Given the description of an element on the screen output the (x, y) to click on. 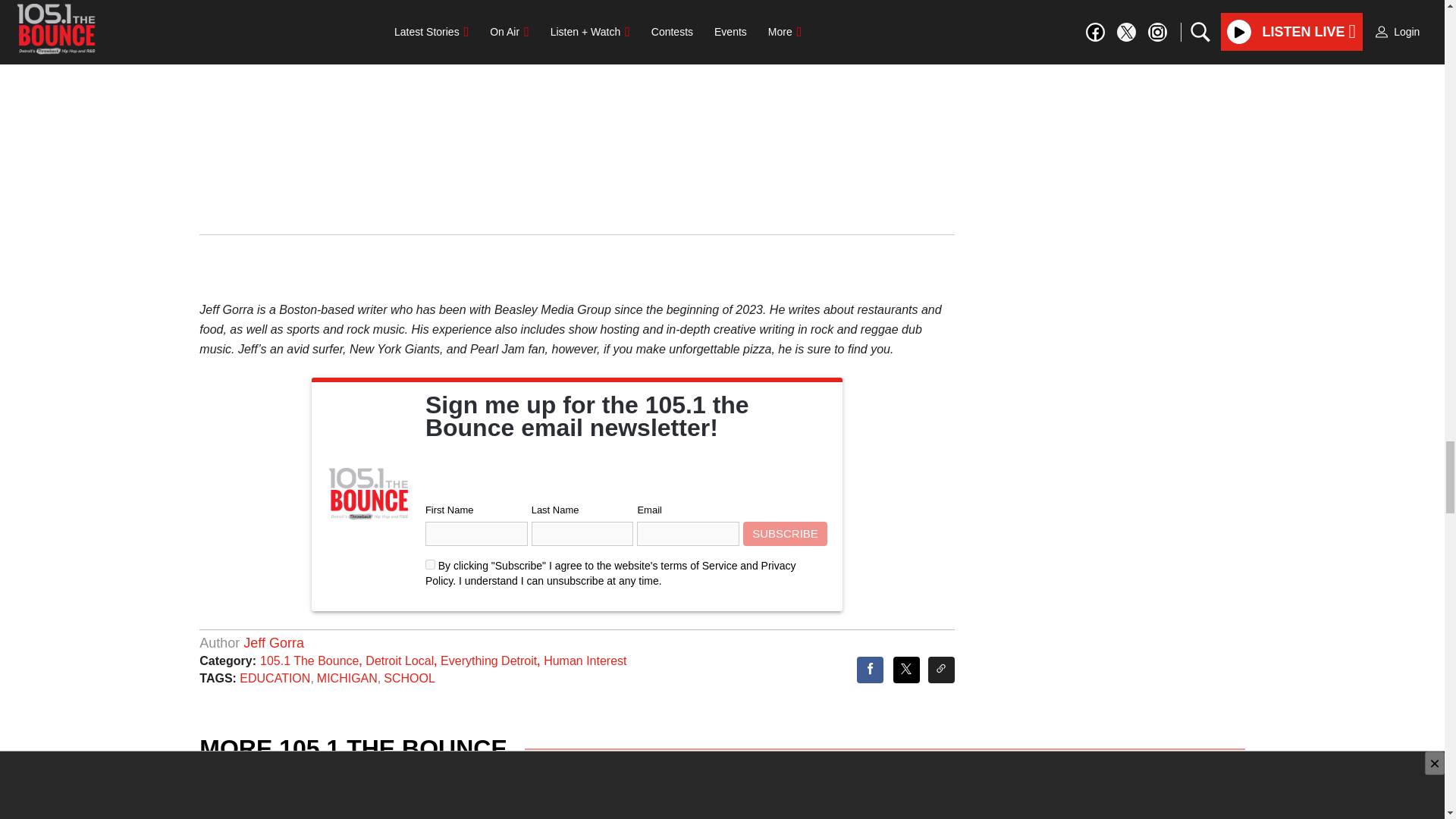
YouTube video player (576, 66)
Jeff Gorra (273, 642)
on (430, 564)
